Given the description of an element on the screen output the (x, y) to click on. 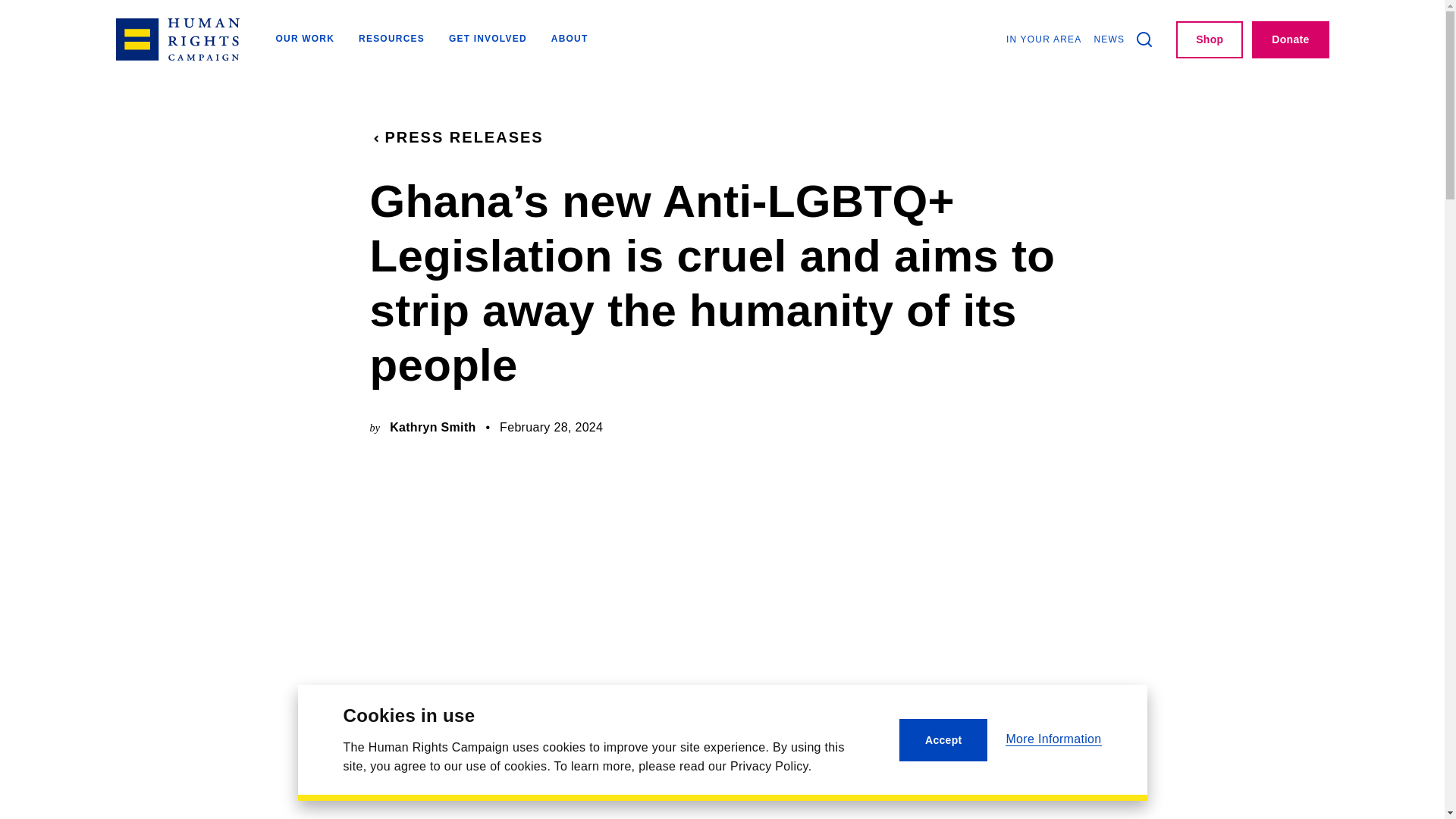
Human Rights Campaign (176, 39)
Donate (1289, 39)
SEARCH (1144, 39)
GET INVOLVED (487, 39)
Accept (943, 740)
OUR WORK (305, 39)
Shop (1209, 39)
ABOUT (569, 39)
IN YOUR AREA (1043, 39)
NEWS (1108, 39)
More Information (1053, 739)
RESOURCES (391, 39)
PRESS RELEASES (456, 137)
